Given the description of an element on the screen output the (x, y) to click on. 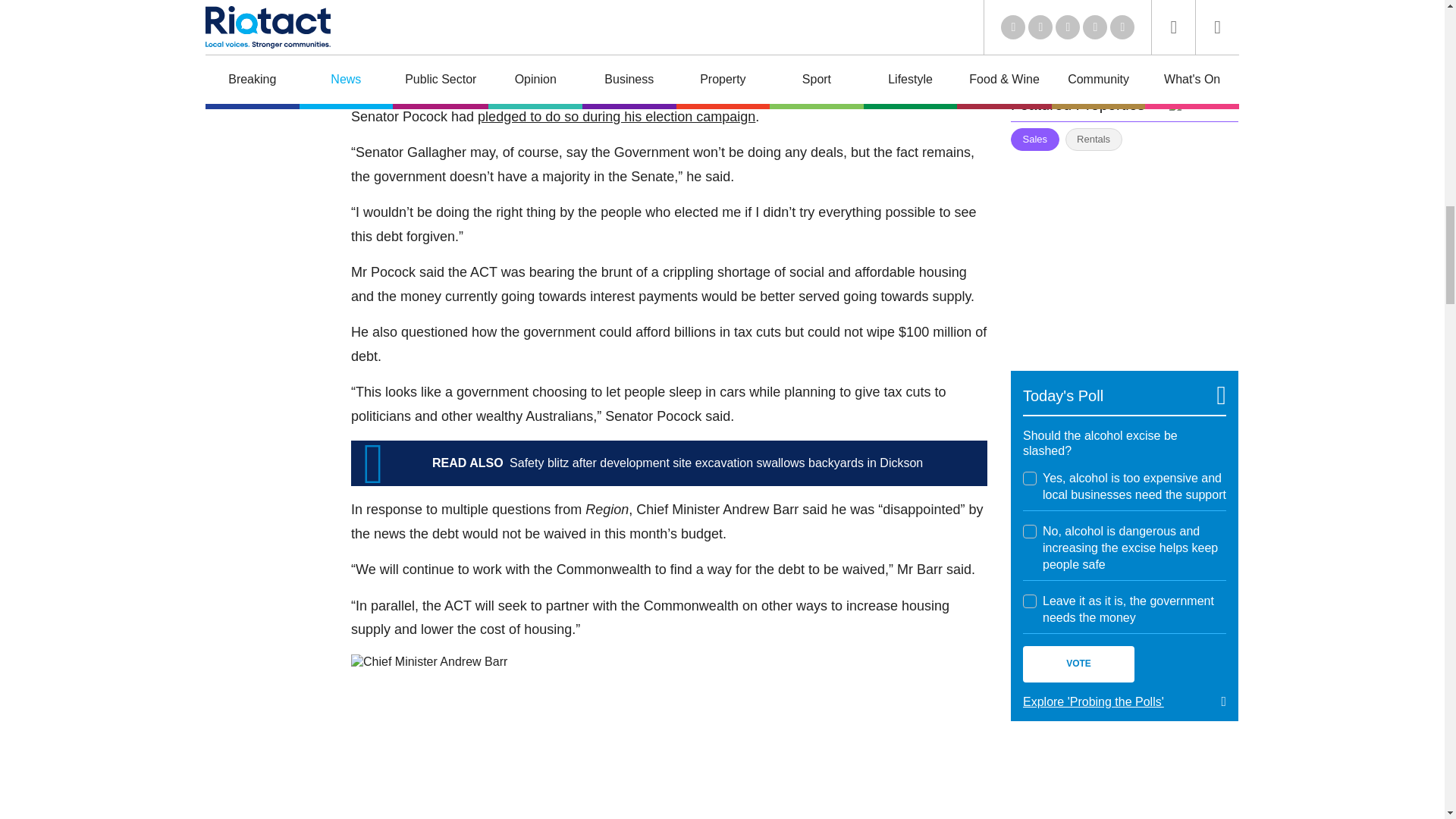
   Vote    (1078, 664)
2048 (1029, 601)
2046 (1029, 478)
Zango (1204, 104)
2047 (1029, 531)
Zango Sales (1124, 251)
